Given the description of an element on the screen output the (x, y) to click on. 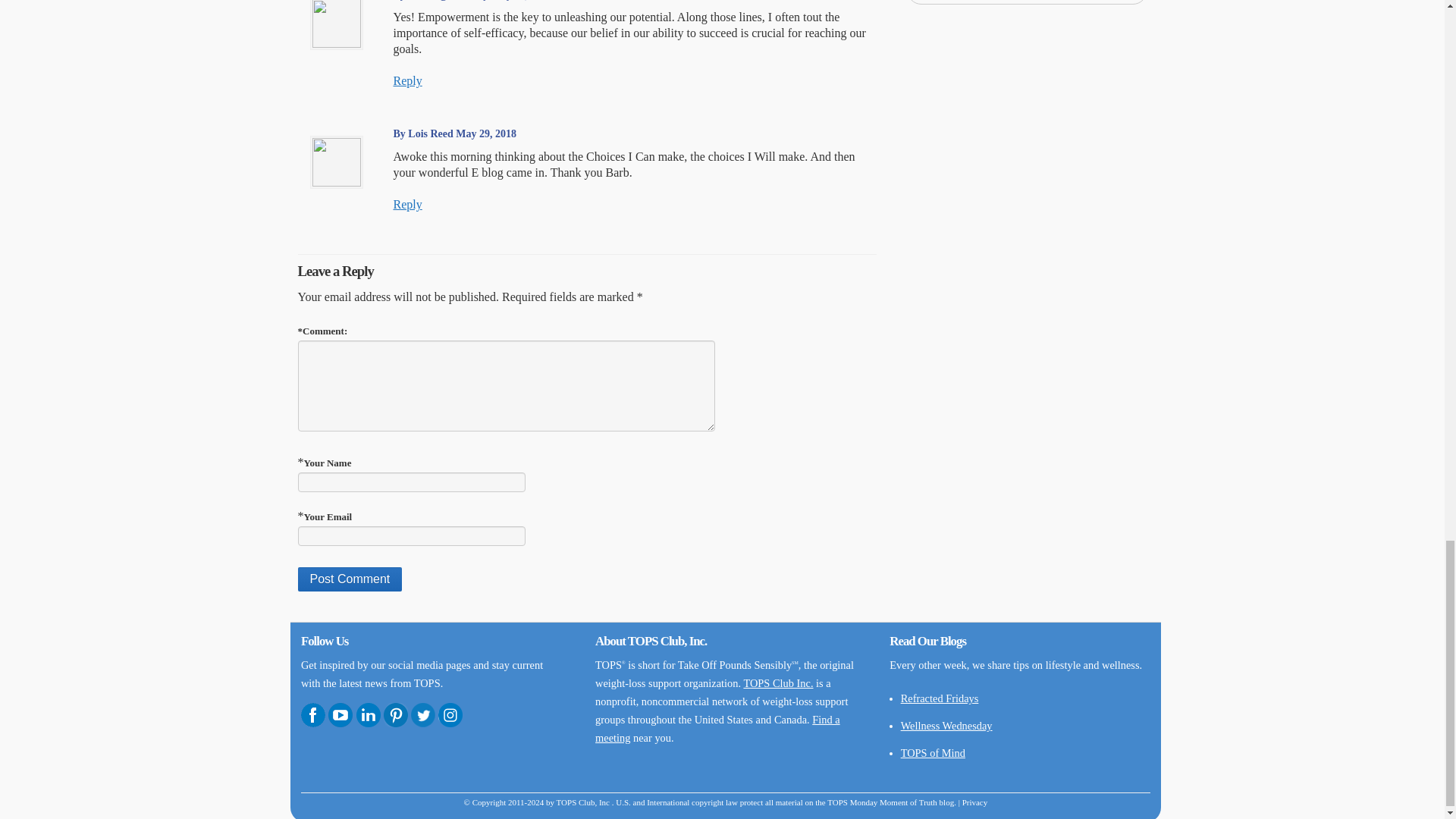
Reply (407, 204)
Reply (407, 80)
Post Comment (349, 579)
